Given the description of an element on the screen output the (x, y) to click on. 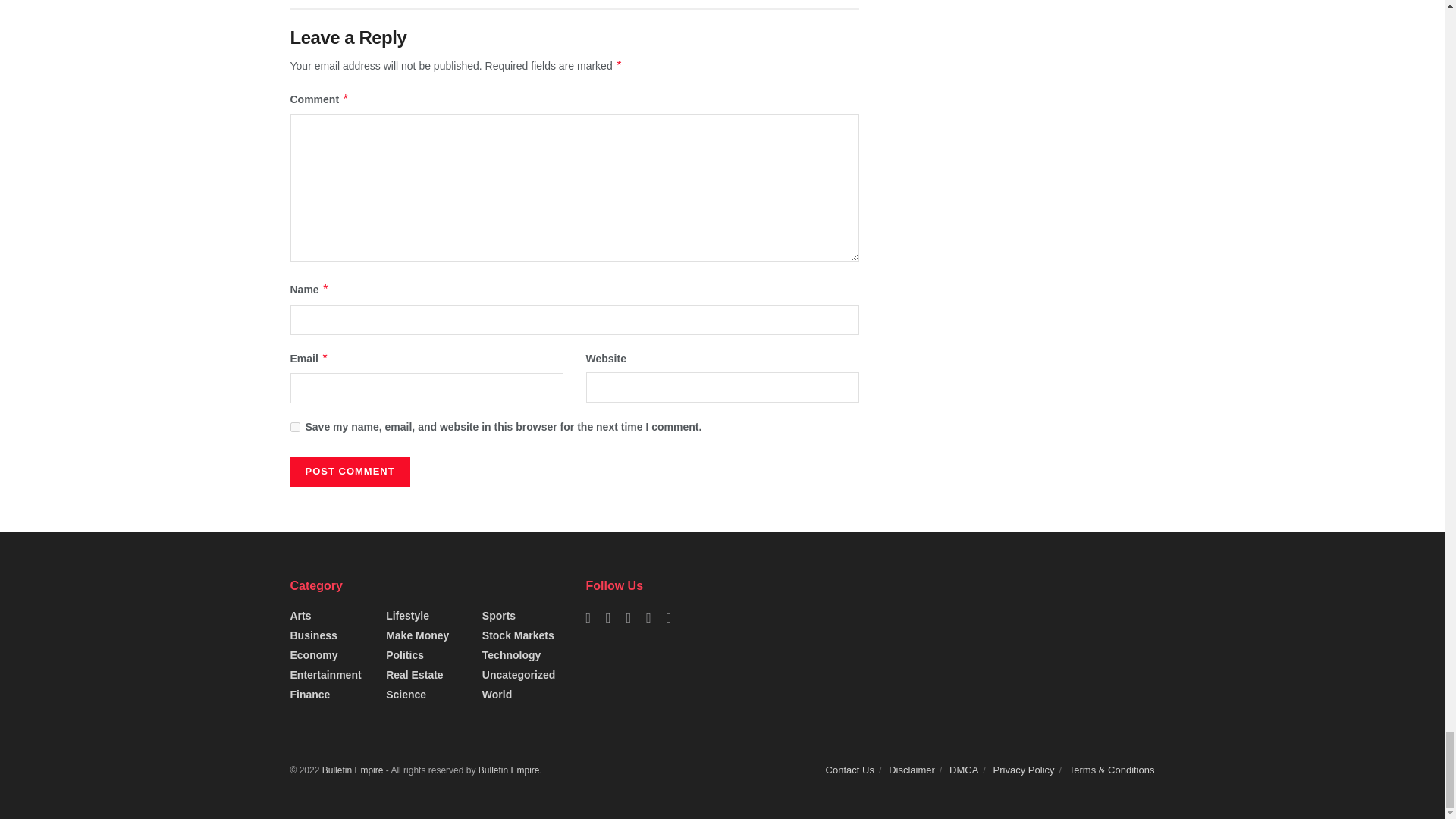
yes (294, 427)
No (352, 769)
Post Comment (349, 471)
Bulletin Empire (509, 769)
